Given the description of an element on the screen output the (x, y) to click on. 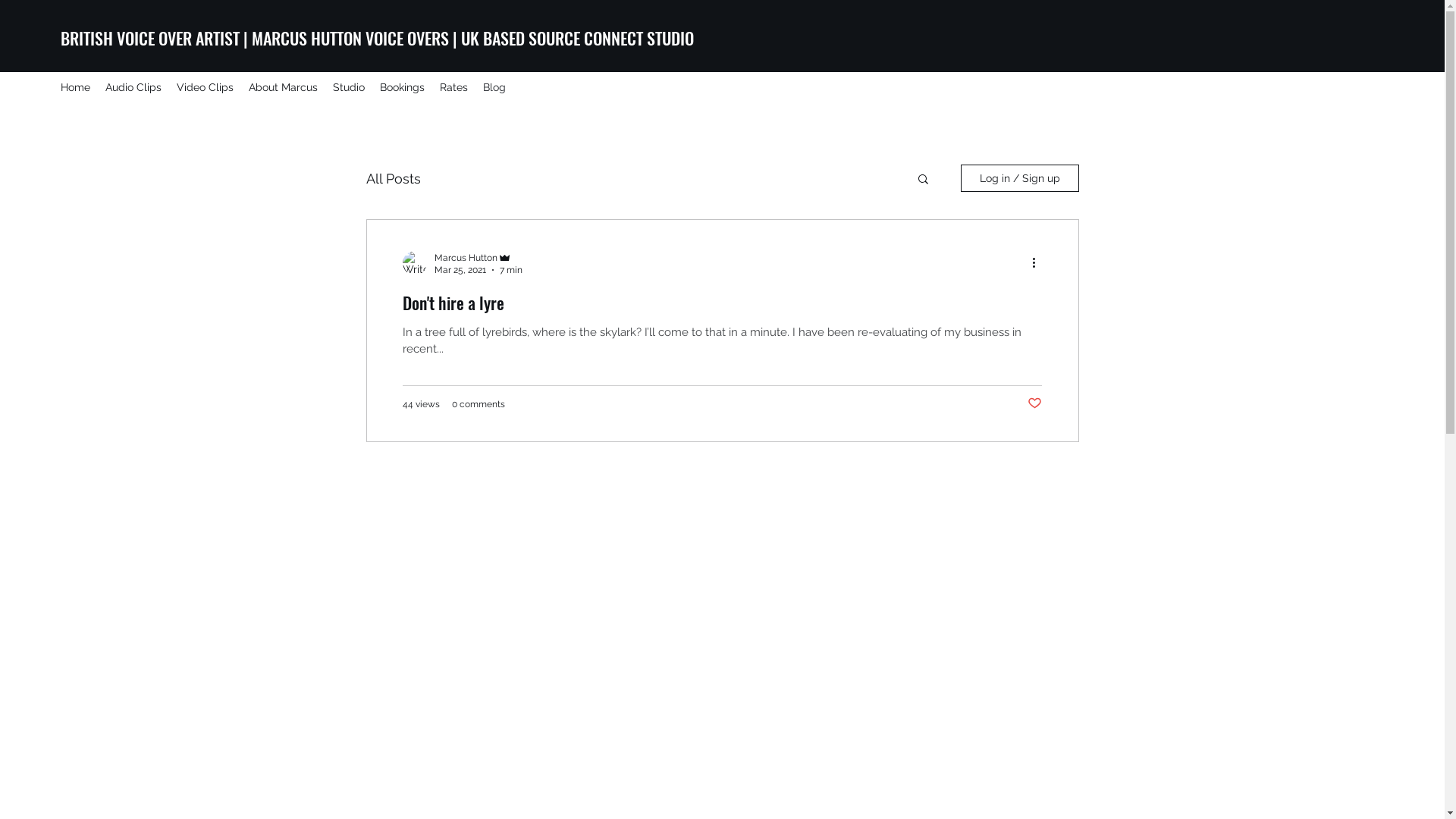
Log in / Sign up Element type: text (1019, 177)
Audio Clips Element type: text (133, 86)
Home Element type: text (75, 86)
Post not marked as liked Element type: text (1034, 403)
Rates Element type: text (453, 86)
Bookings Element type: text (402, 86)
Video Clips Element type: text (205, 86)
0 comments Element type: text (478, 403)
Studio Element type: text (348, 86)
About Marcus Element type: text (283, 86)
All Posts Element type: text (392, 177)
Don't hire a lyre Element type: text (721, 306)
Blog Element type: text (494, 86)
